Given the description of an element on the screen output the (x, y) to click on. 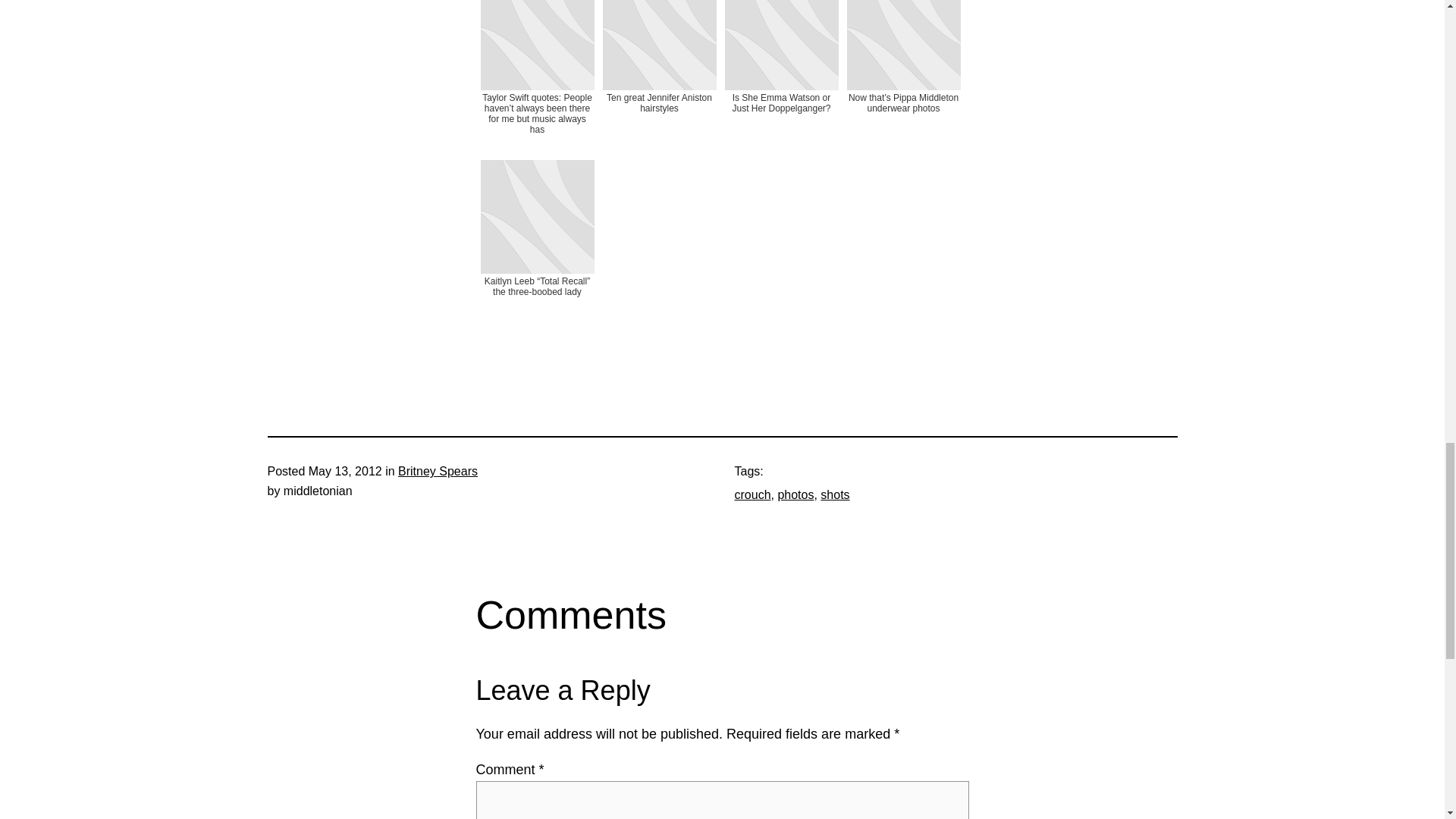
crouch (751, 494)
Britney Spears (437, 471)
shots (834, 494)
photos (795, 494)
